Given the description of an element on the screen output the (x, y) to click on. 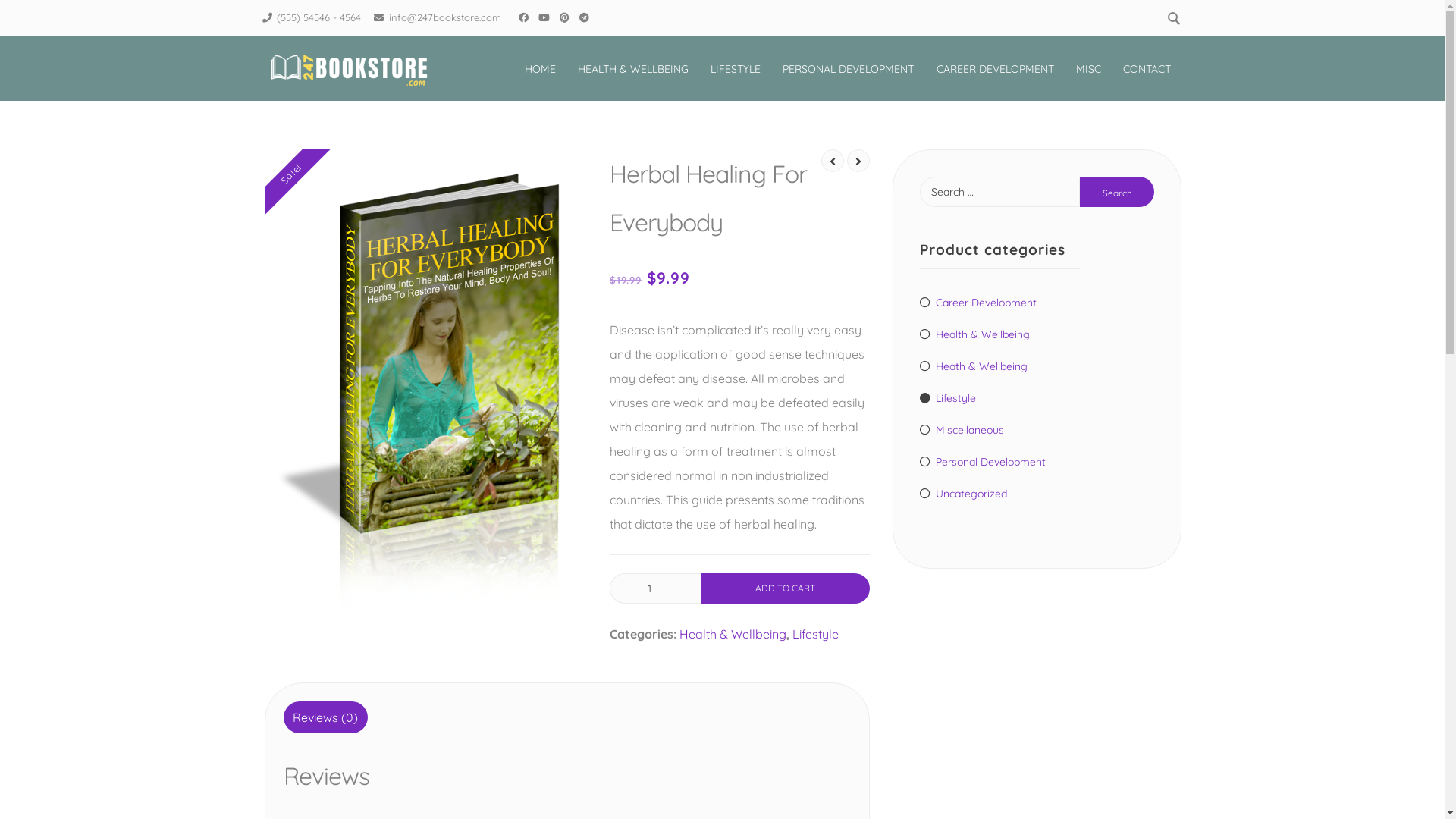
HOME Element type: text (540, 68)
Pinterest Element type: text (564, 17)
Facebook Element type: text (523, 17)
049hearbal20healing_3D.png Element type: hover (423, 378)
Qty Element type: hover (654, 588)
MISC Element type: text (1088, 68)
Miscellaneous Element type: text (961, 429)
ADD TO CART Element type: text (784, 588)
Heath & Wellbeing Element type: text (973, 366)
LIFESTYLE Element type: text (735, 68)
Search Element type: text (1116, 191)
Health & Wellbeing Element type: text (974, 334)
Uncategorized Element type: text (963, 493)
Reviews (0) Element type: text (325, 717)
Telegram Element type: text (584, 17)
YouTube Element type: text (544, 17)
Lifestyle Element type: text (815, 633)
Health & Wellbeing Element type: text (732, 633)
PERSONAL DEVELOPMENT Element type: text (848, 68)
Personal Development Element type: text (982, 461)
247Bookstore.com Element type: text (496, 75)
CONTACT Element type: text (1147, 68)
Lifestyle Element type: text (947, 398)
CAREER DEVELOPMENT Element type: text (994, 68)
Career Development Element type: text (977, 302)
HEALTH & WELLBEING Element type: text (633, 68)
